Given the description of an element on the screen output the (x, y) to click on. 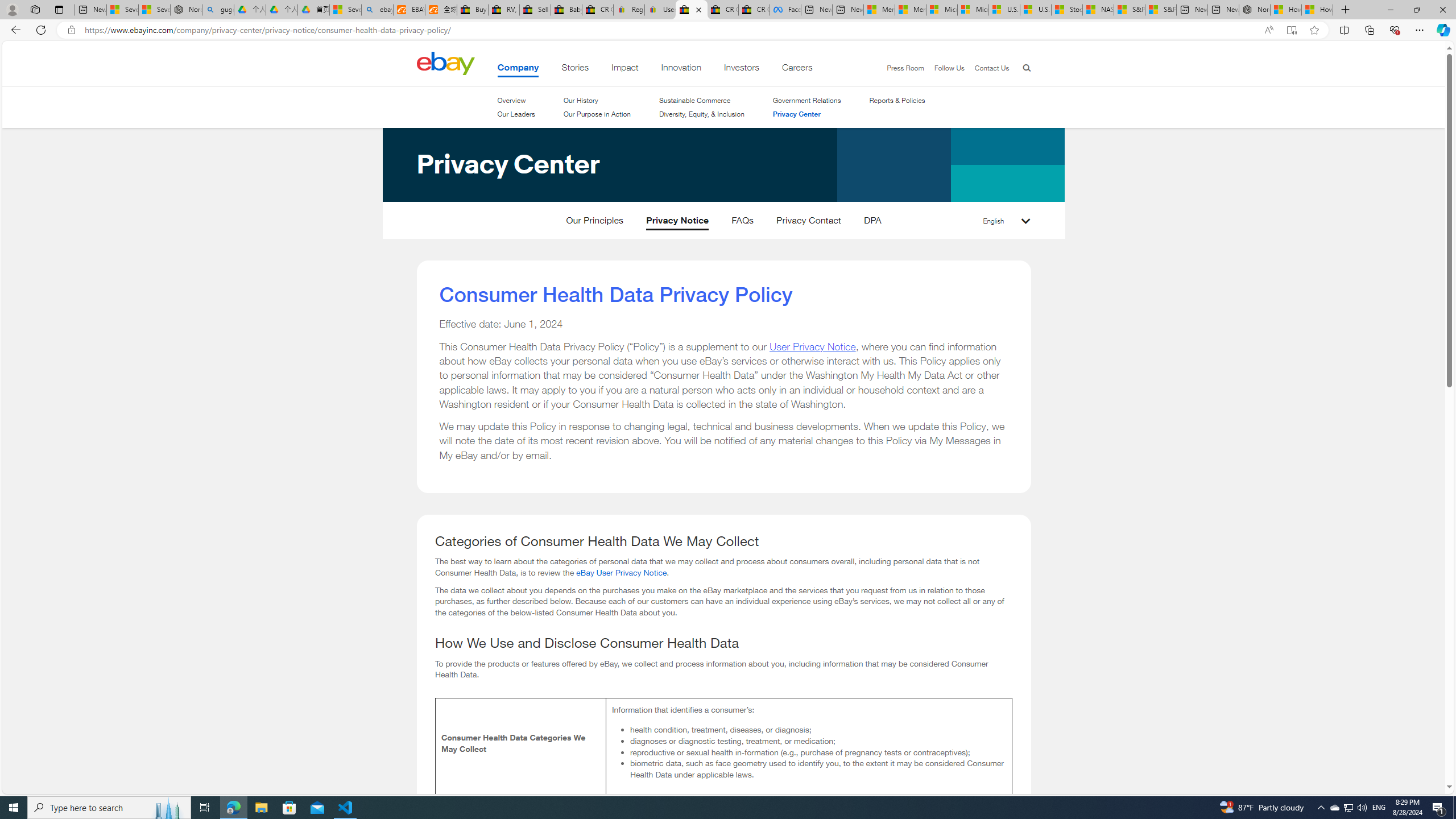
Diversity, Equity, & Inclusion (701, 113)
Press Room (900, 68)
Privacy Notice (677, 222)
Overview (515, 100)
Reports & Policies (897, 99)
Our Purpose in Action (596, 113)
Follow Us (948, 67)
Our Leaders (515, 113)
Our Principles (595, 222)
Innovation (681, 69)
